Given the description of an element on the screen output the (x, y) to click on. 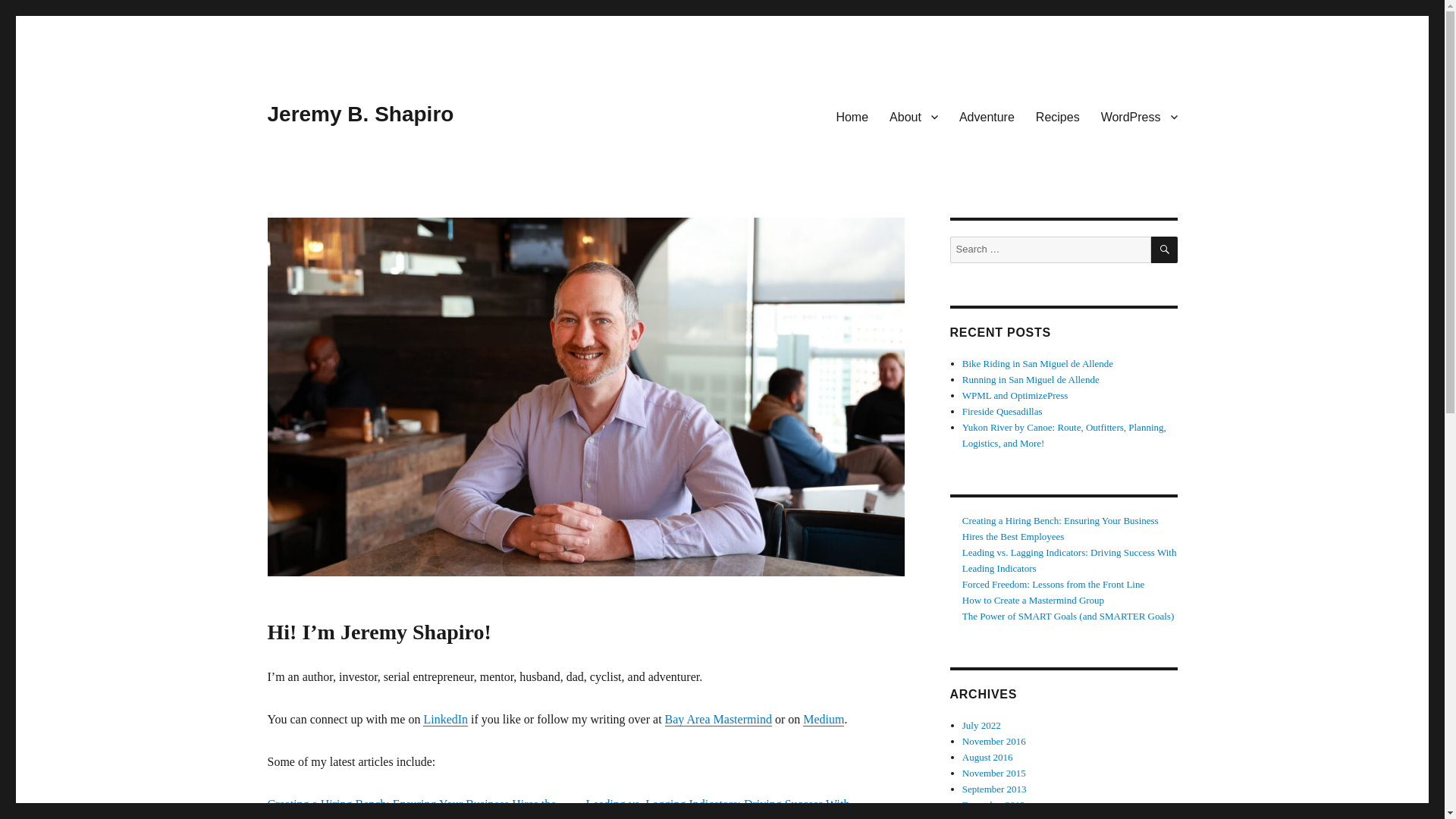
Bay Area Mastermind (718, 718)
LinkedIn (445, 718)
Home (852, 116)
Jeremy B. Shapiro (359, 114)
About (914, 116)
Recipes (1057, 116)
Adventure (987, 116)
WordPress (1139, 116)
Medium (823, 718)
